Given the description of an element on the screen output the (x, y) to click on. 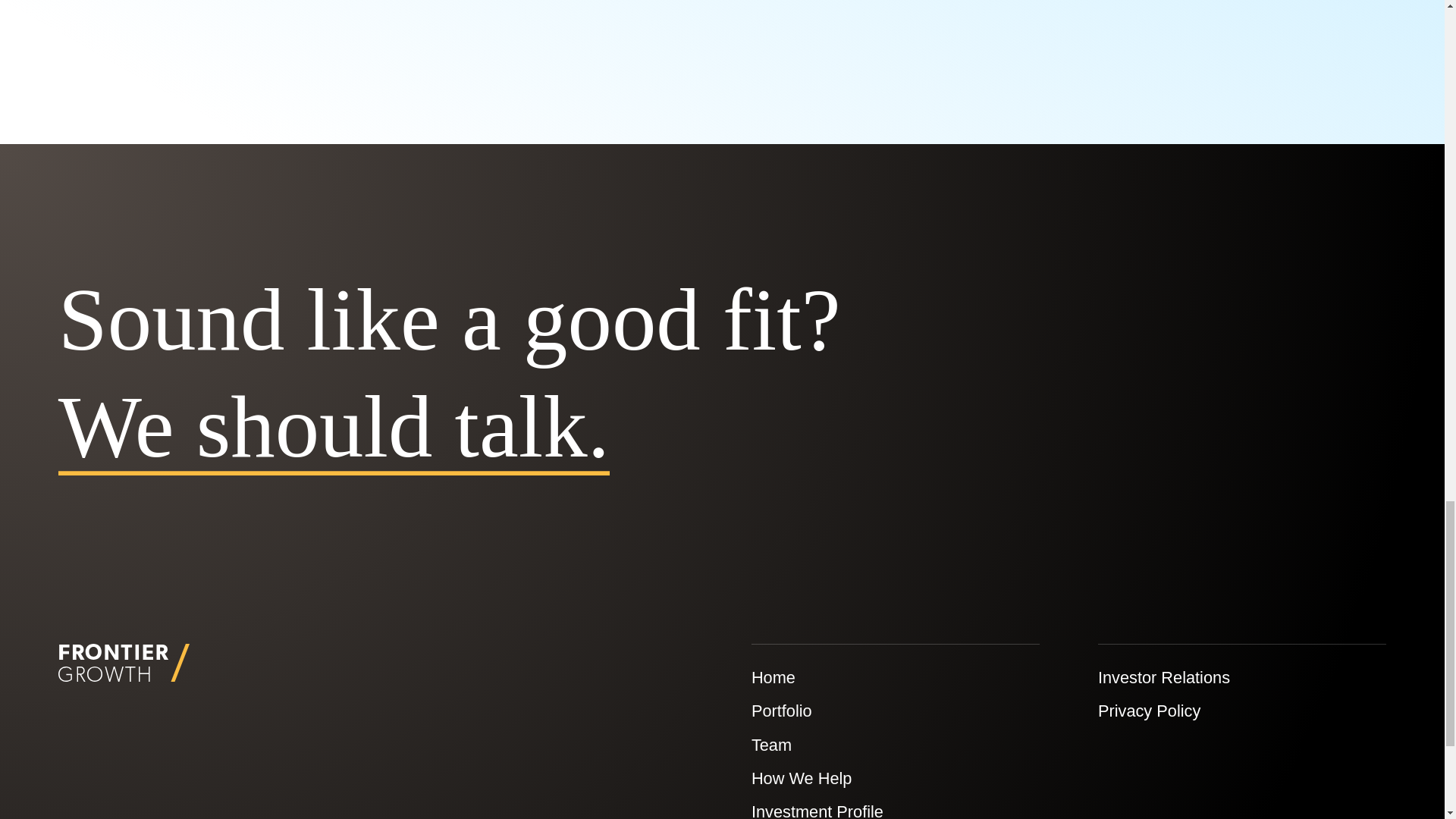
Investment Profile (817, 810)
Frontier Growth (123, 662)
How We Help (801, 778)
Portfolio (781, 710)
Home (772, 677)
Investor Relations (1163, 677)
We should talk. (334, 426)
Team (771, 744)
Privacy Policy (1148, 710)
